Given the description of an element on the screen output the (x, y) to click on. 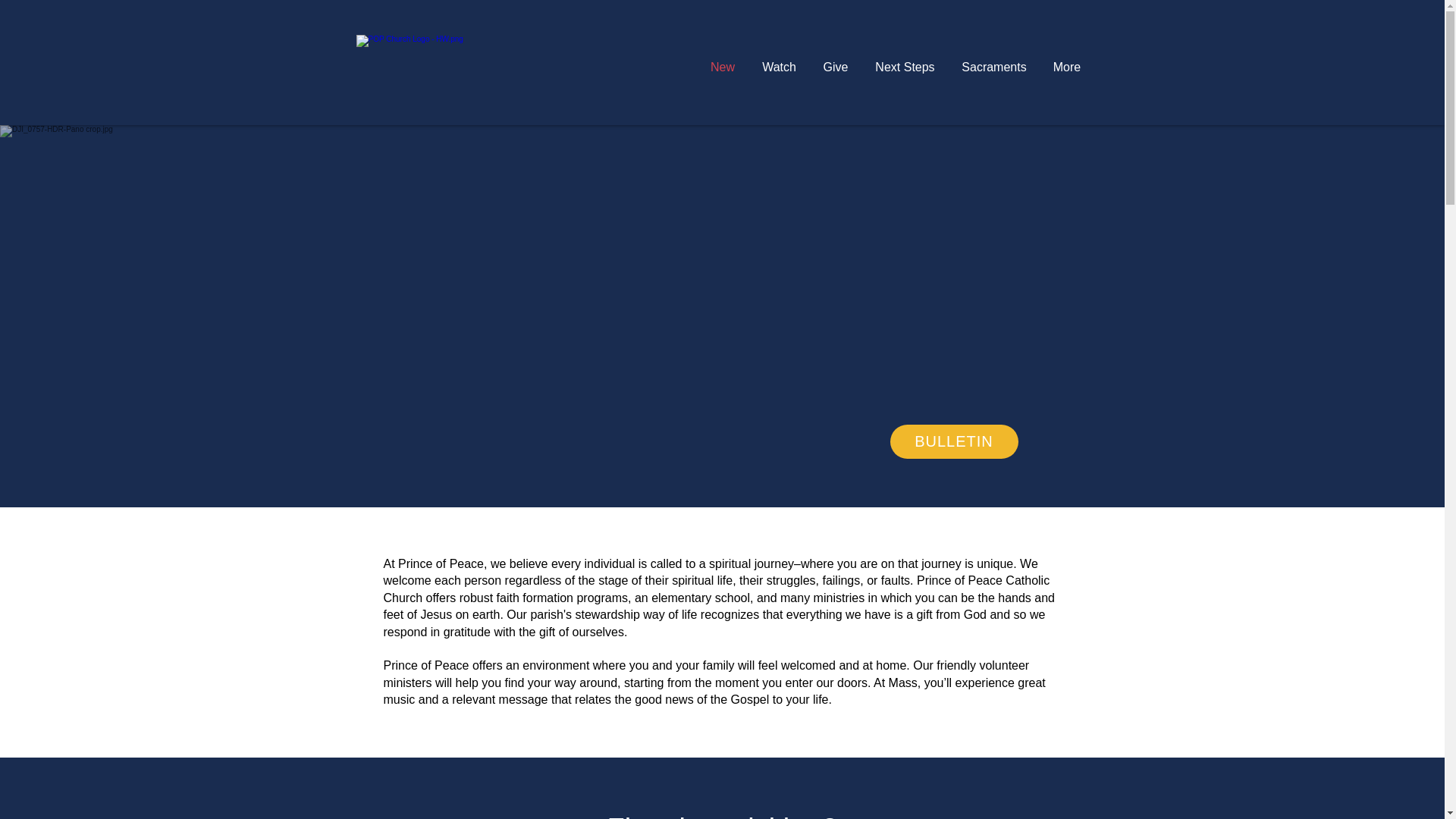
Sacraments (993, 67)
New (721, 67)
Next Steps (904, 67)
Give (835, 67)
Watch (779, 67)
BULLETIN (953, 441)
